Given the description of an element on the screen output the (x, y) to click on. 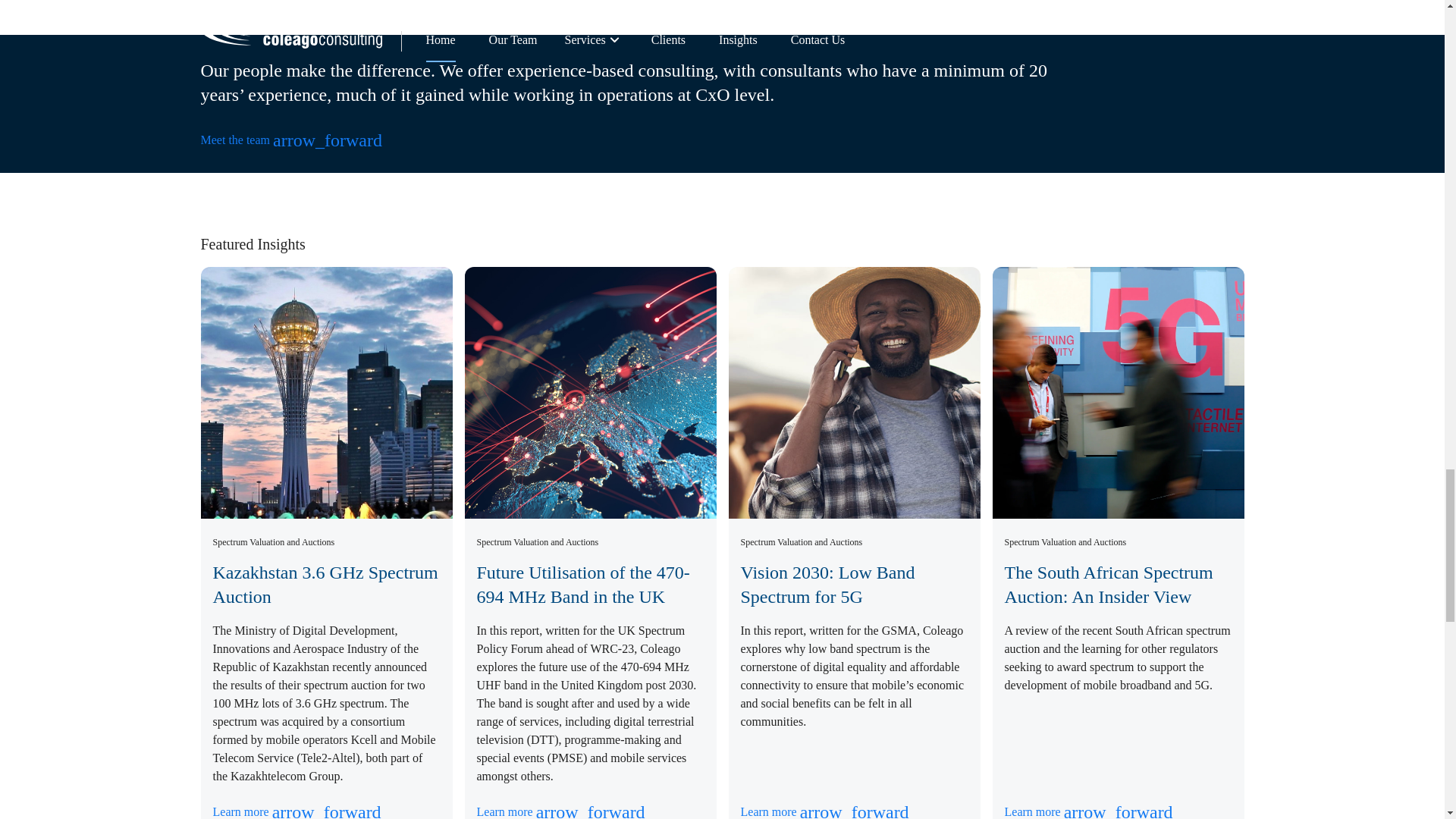
The South African Spectrum Auction: An Insider View (1108, 584)
Vision 2030: Low Band Spectrum for 5G (826, 584)
Kazakhstan 3.6 GHz Spectrum Auction (325, 584)
Future Utilisation of the 470-694 MHz Band in the UK (582, 584)
